Given the description of an element on the screen output the (x, y) to click on. 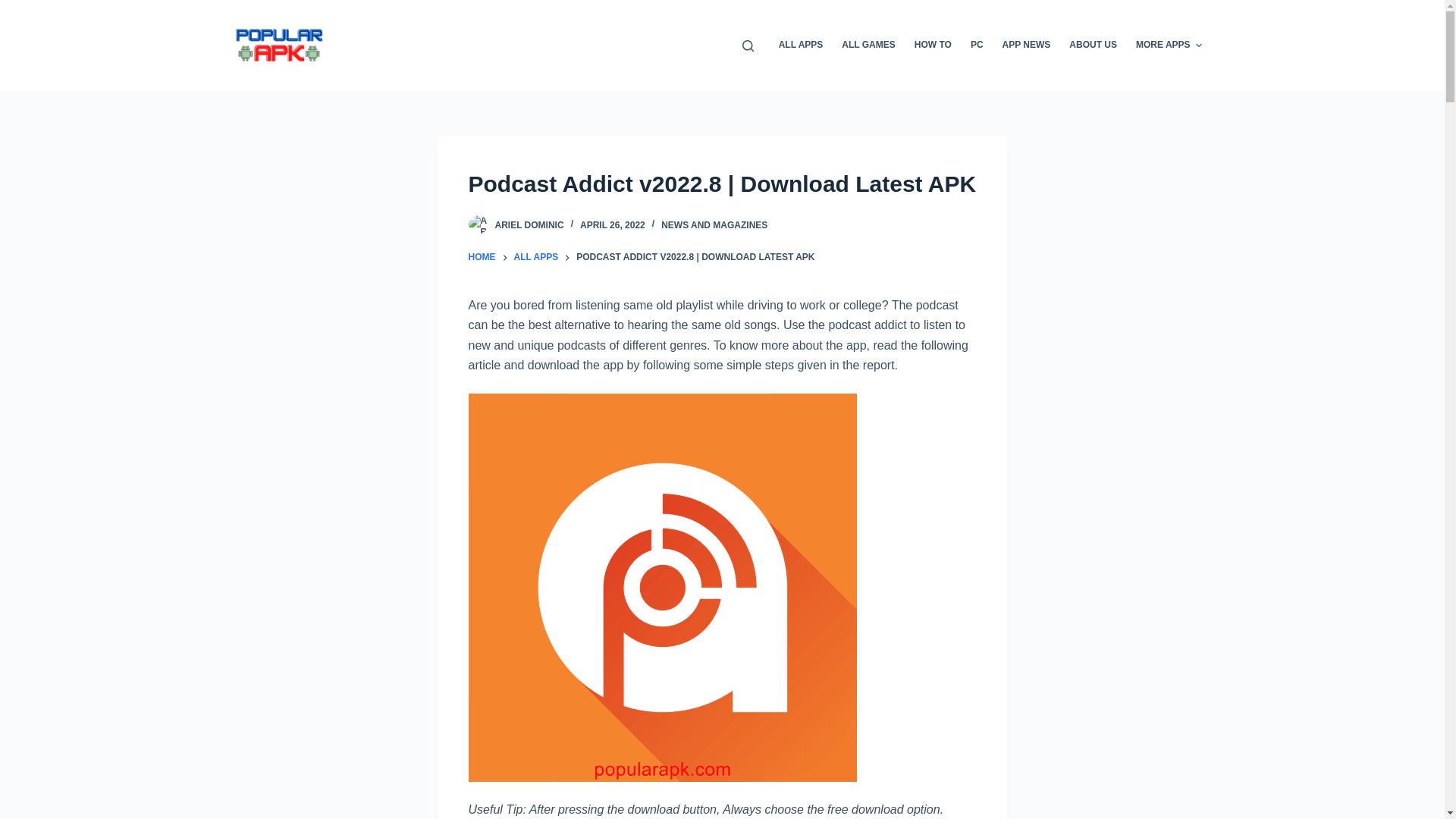
ARIEL DOMINIC (529, 225)
ALL APPS (536, 257)
MORE APPS (1168, 45)
HOME (482, 257)
Posts by Ariel Dominic (529, 225)
NEWS AND MAGAZINES (714, 225)
Skip to content (15, 7)
